Given the description of an element on the screen output the (x, y) to click on. 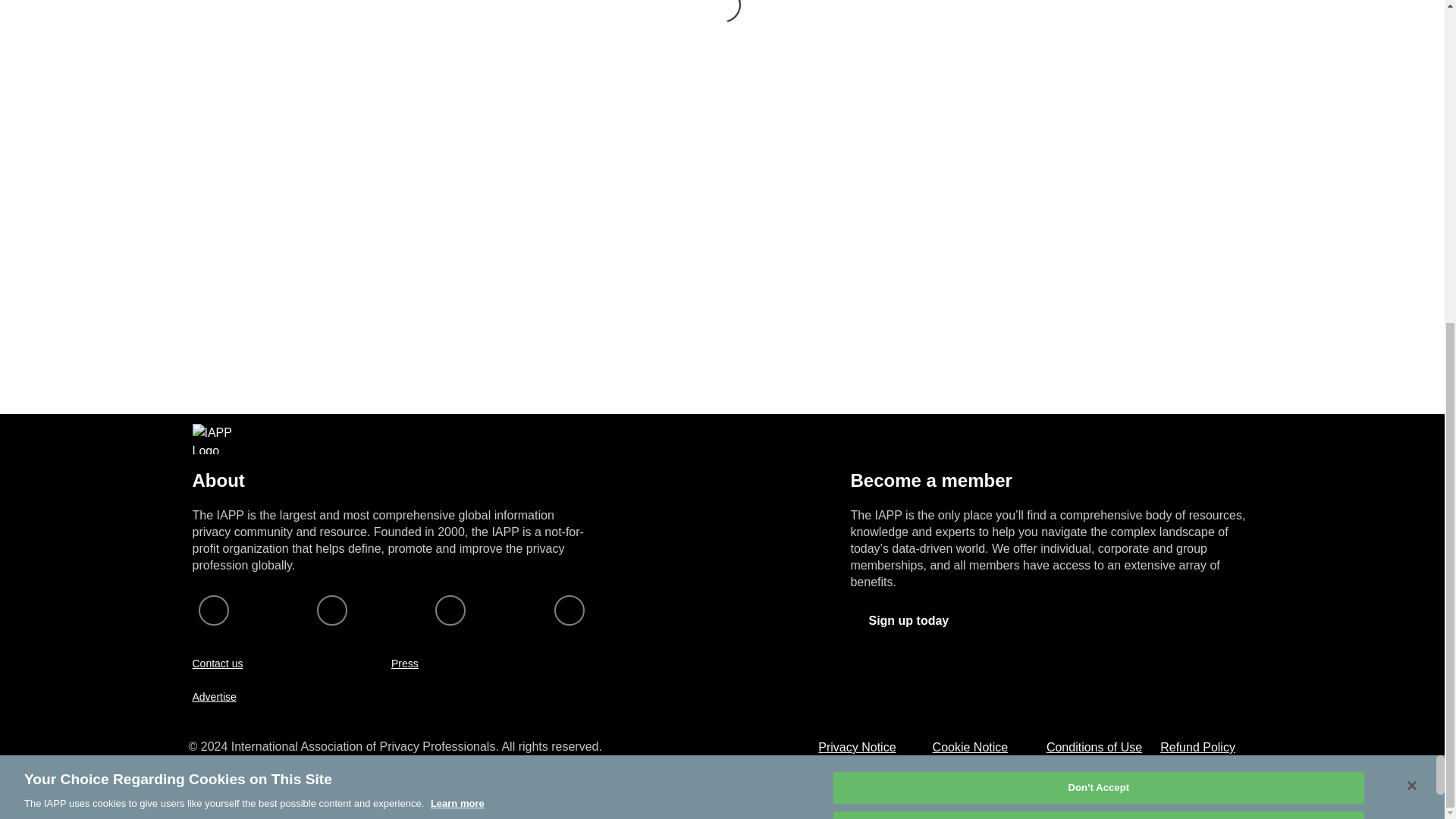
Don't Accept (1098, 260)
Cookie Notice (971, 747)
Privacy Notice (856, 747)
Conditions of Use (1093, 747)
Manage Cookies (1098, 223)
Sign up today (908, 621)
Advertise (213, 696)
Refund Policy (1197, 747)
Contact us (217, 663)
Accept (1098, 300)
Press (405, 663)
Learn more (457, 276)
Sign up today (908, 620)
